Given the description of an element on the screen output the (x, y) to click on. 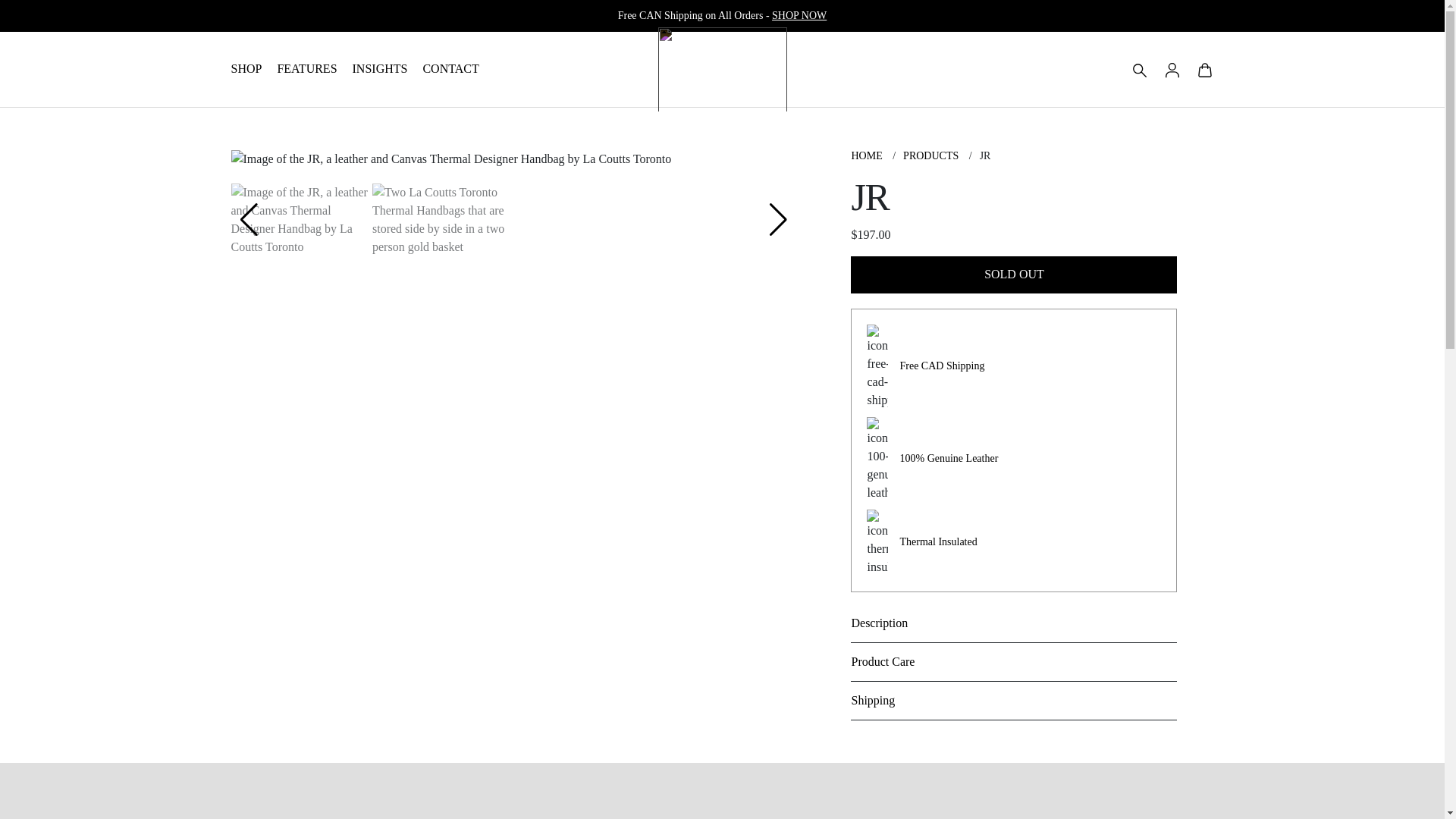
SHOP (246, 69)
HOME (866, 155)
Description (1013, 623)
PRODUCTS (930, 155)
INSIGHTS (379, 69)
SOLD OUT (1013, 274)
All collections (799, 15)
FEATURES (306, 69)
SHOP NOW (799, 15)
Shipping (1013, 700)
Product Care (1013, 661)
CONTACT (450, 69)
